Given the description of an element on the screen output the (x, y) to click on. 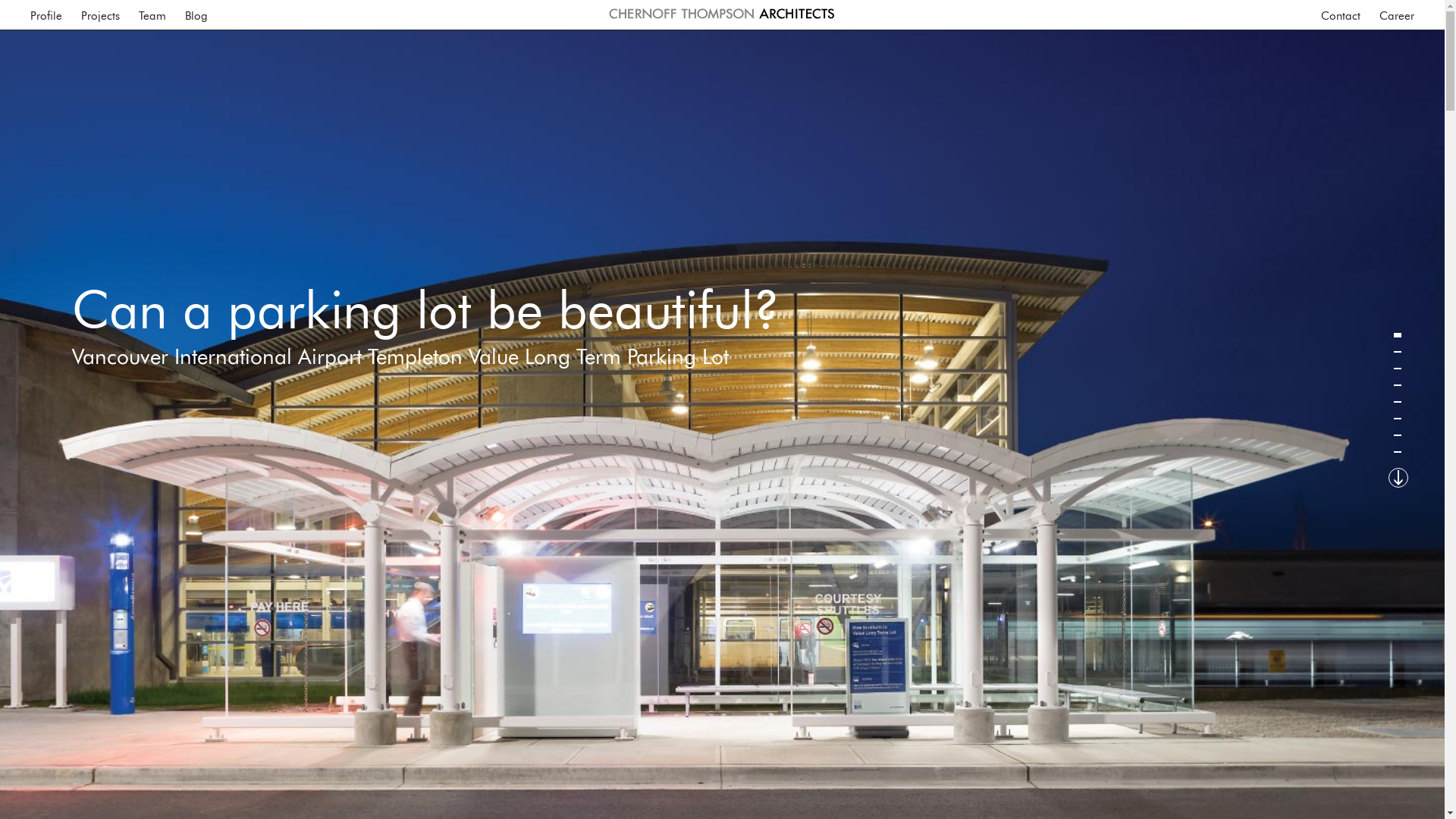
Chernoff Thompson Logo Element type: hover (721, 13)
Profile Element type: text (46, 14)
Team Element type: text (152, 14)
Can a parking lot be beautiful? Element type: hover (1393, 334)
How do you house an isotope? Element type: hover (1393, 368)
This fire hall deserves its own calendar Element type: hover (1393, 435)
Colour this workspace inviting Element type: hover (1393, 351)
A building at the top of its class Element type: hover (1393, 418)
Contact Element type: text (1340, 14)
West Coast beauty with an ocean view Element type: hover (1393, 401)
Career Element type: text (1396, 14)
Blog Element type: text (196, 14)
Projects Element type: text (100, 14)
